Given the description of an element on the screen output the (x, y) to click on. 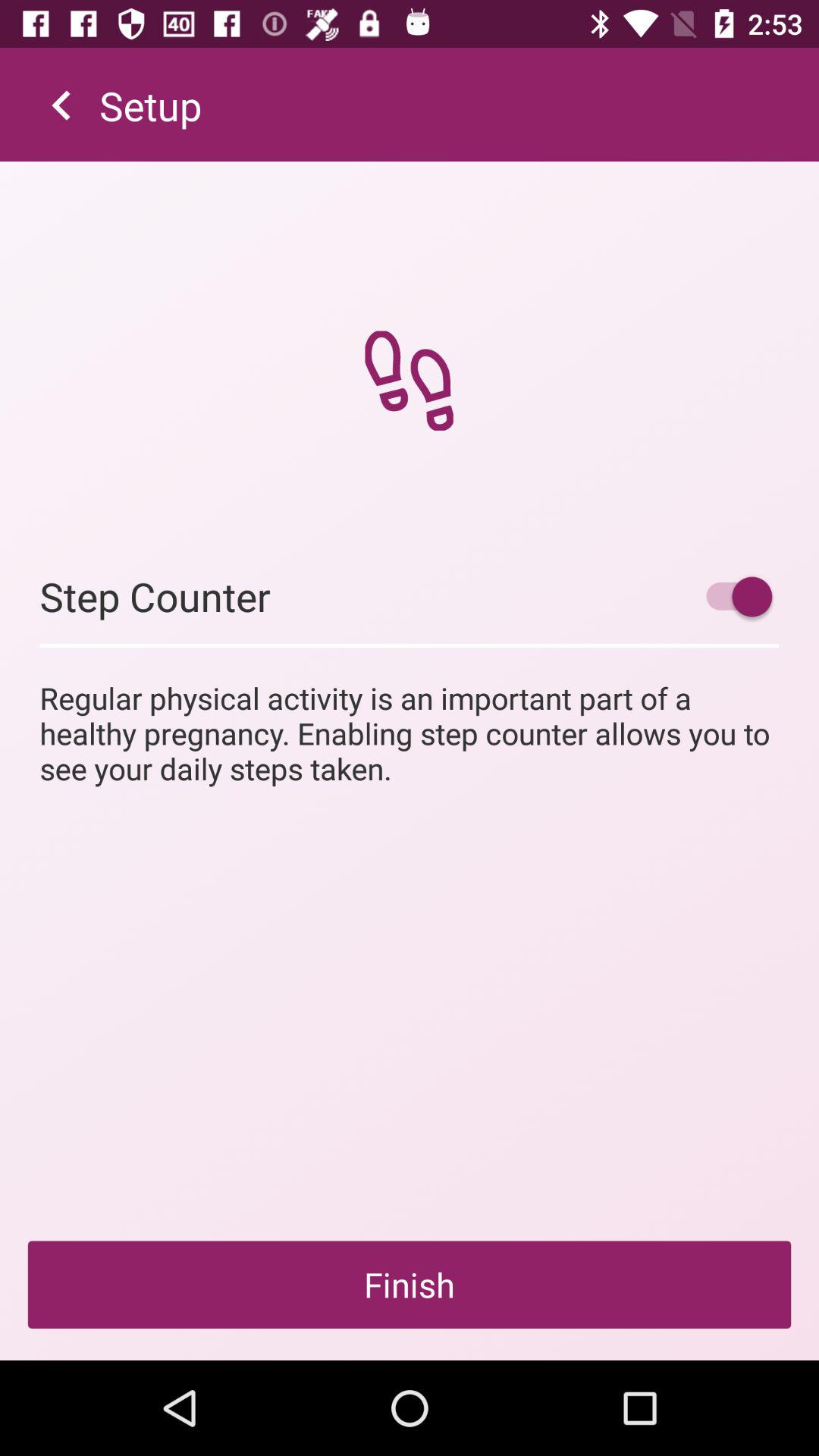
turn on the finish (409, 1284)
